Given the description of an element on the screen output the (x, y) to click on. 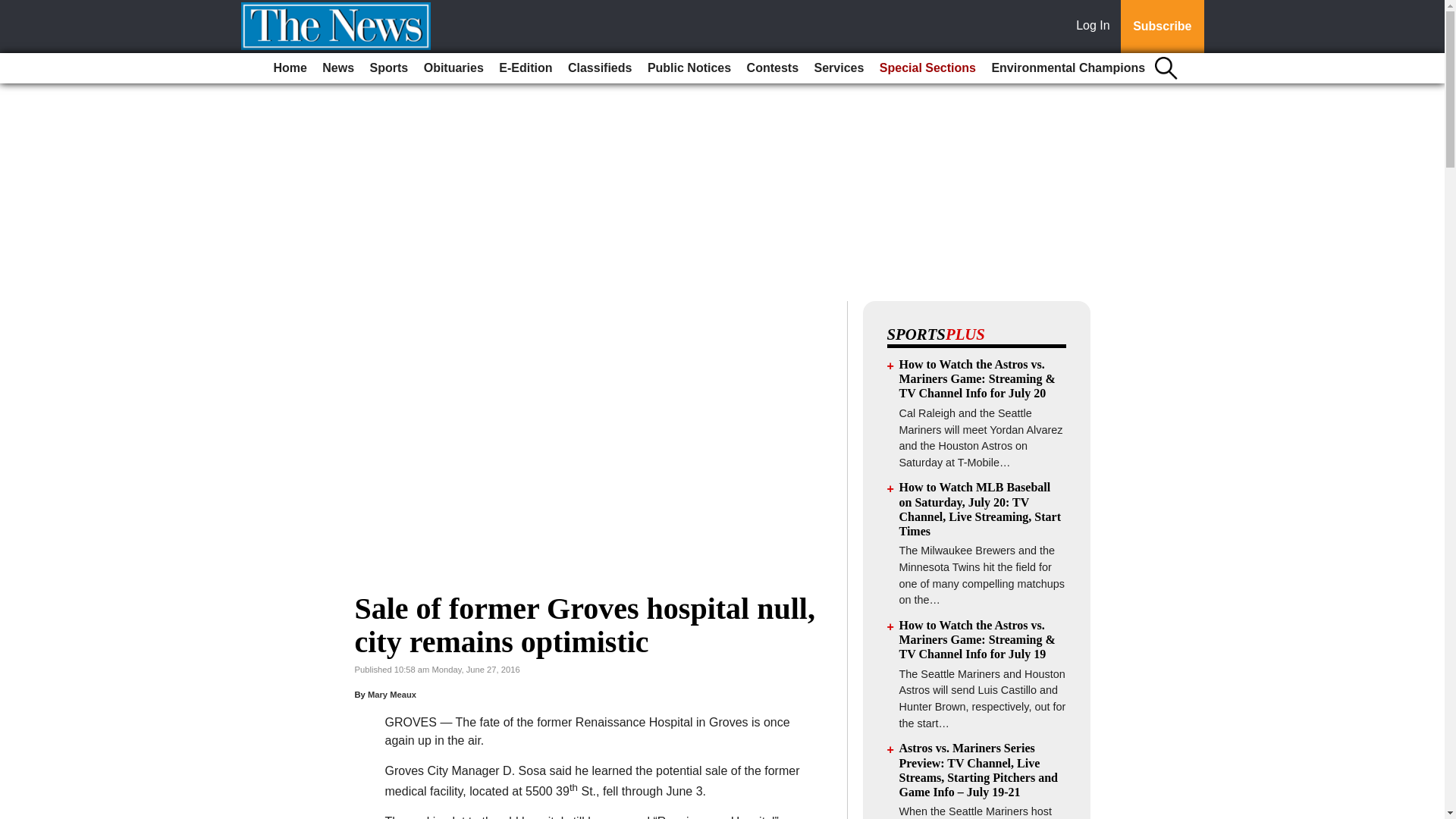
Environmental Champions (1068, 68)
Special Sections (927, 68)
Public Notices (689, 68)
Contests (773, 68)
Home (289, 68)
Sports (389, 68)
News (337, 68)
Subscribe (1162, 26)
E-Edition (525, 68)
Obituaries (453, 68)
Go (13, 9)
Classifieds (599, 68)
Services (839, 68)
Log In (1095, 26)
Mary Meaux (392, 694)
